Given the description of an element on the screen output the (x, y) to click on. 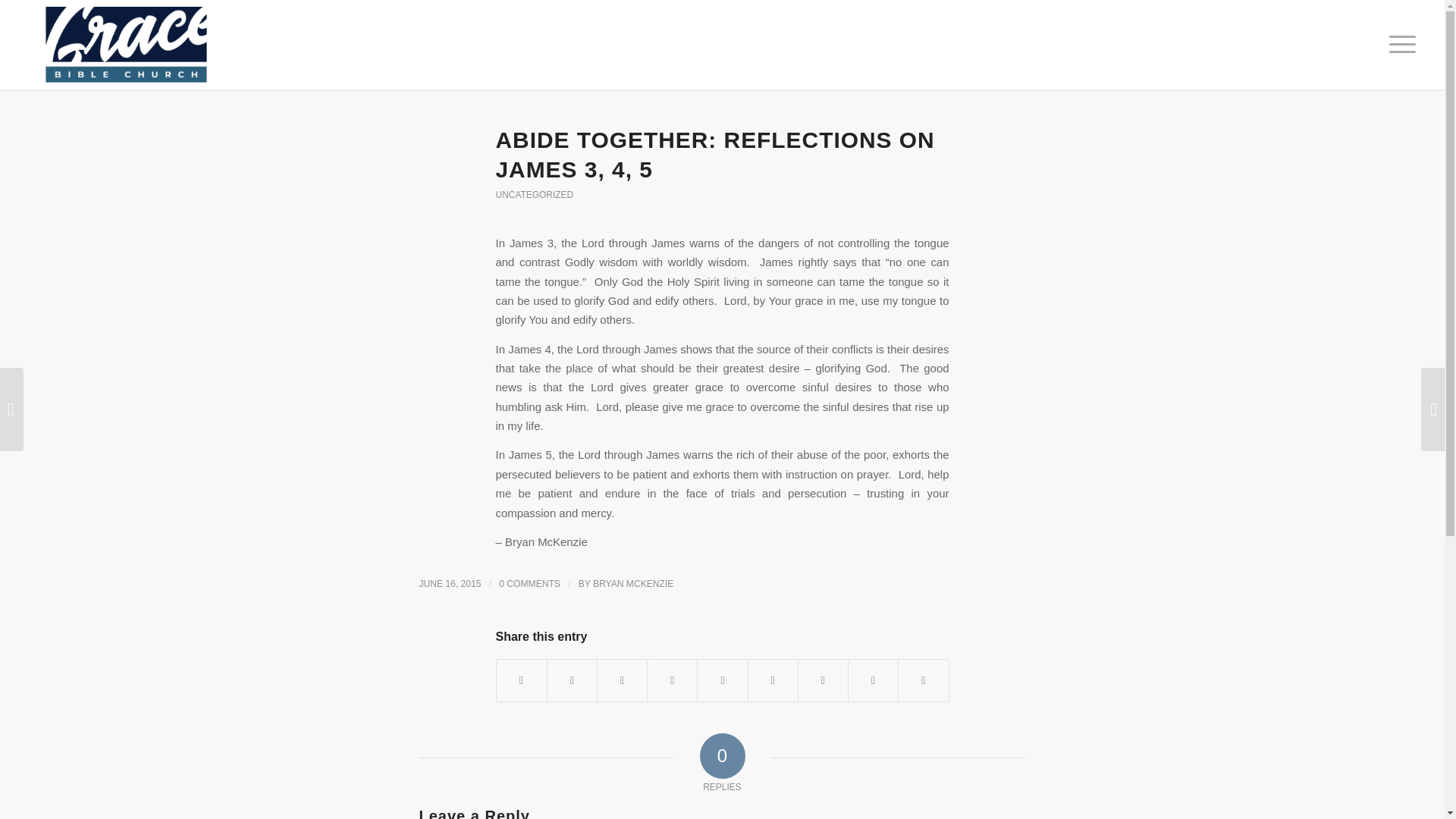
ABIDE TOGETHER: REFLECTIONS ON JAMES 3, 4, 5 (715, 154)
Posts by Bryan McKenzie (632, 583)
Permanent Link: Abide Together: Reflections on James 3, 4, 5 (715, 154)
UNCATEGORIZED (534, 194)
0 COMMENTS (529, 583)
BRYAN MCKENZIE (632, 583)
